Given the description of an element on the screen output the (x, y) to click on. 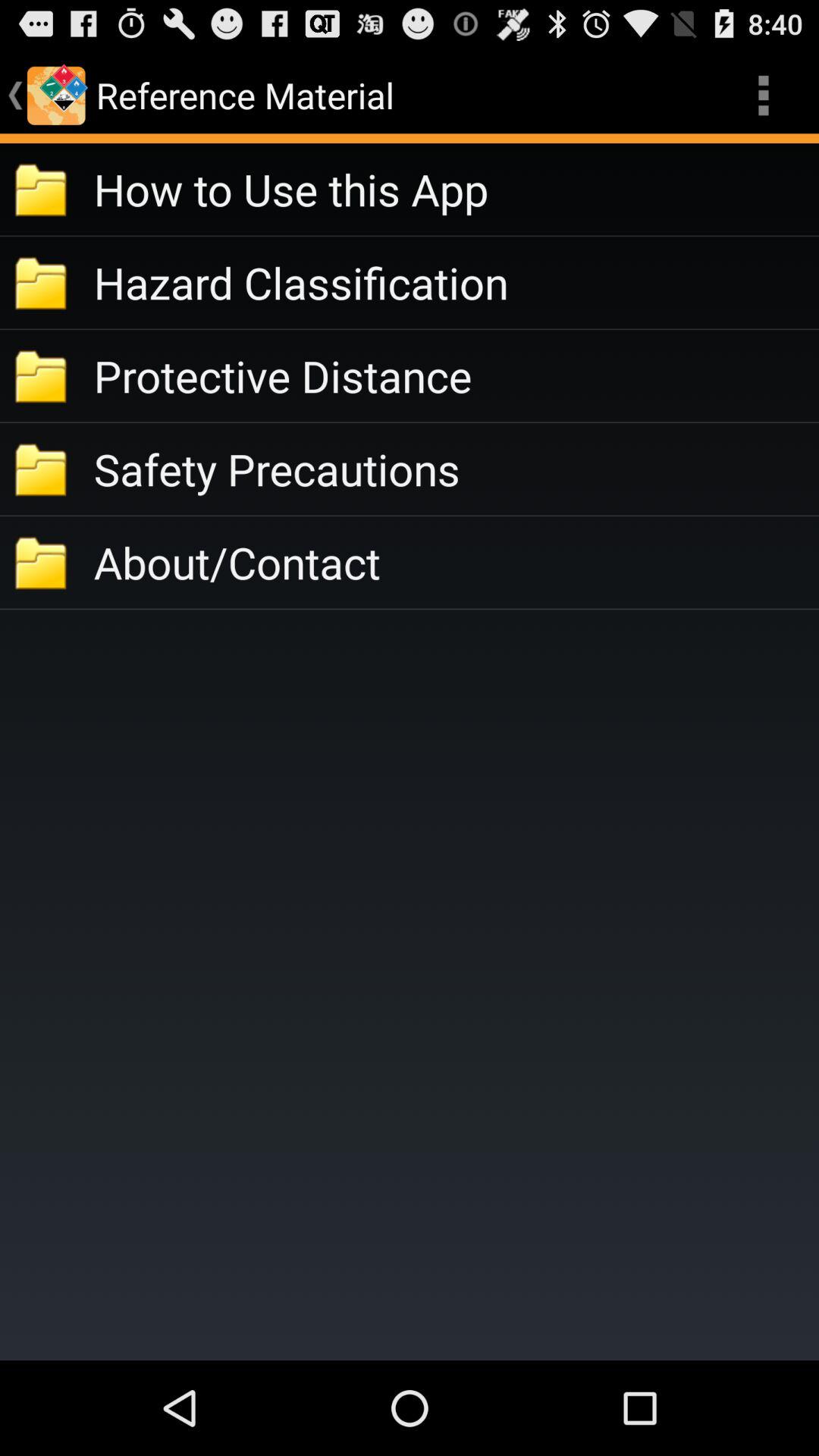
launch the how to use item (456, 189)
